Given the description of an element on the screen output the (x, y) to click on. 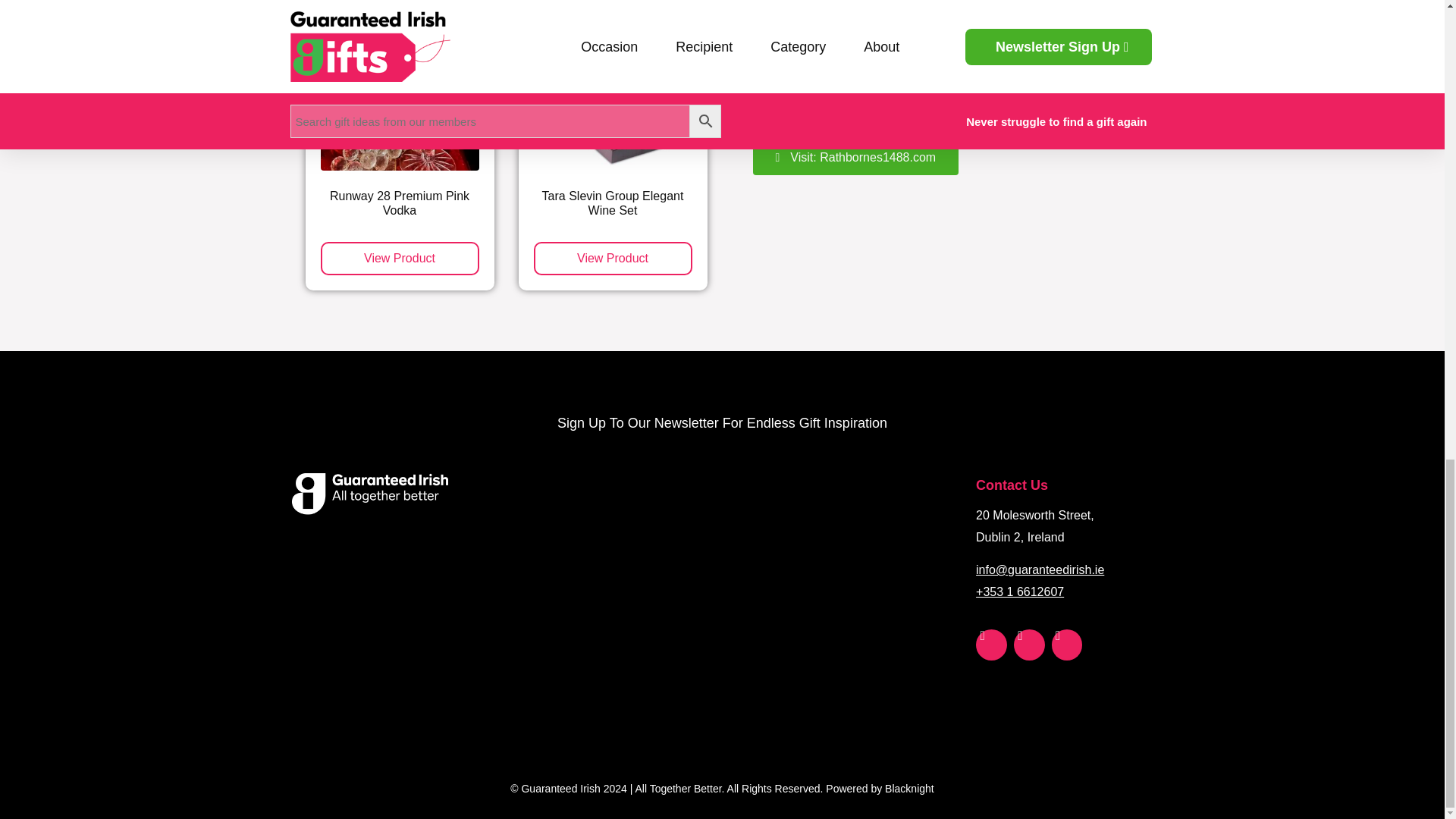
Form 0 (720, 593)
View Product (399, 258)
Visit: Rathbornes1488.com (855, 157)
View Product (613, 258)
